Given the description of an element on the screen output the (x, y) to click on. 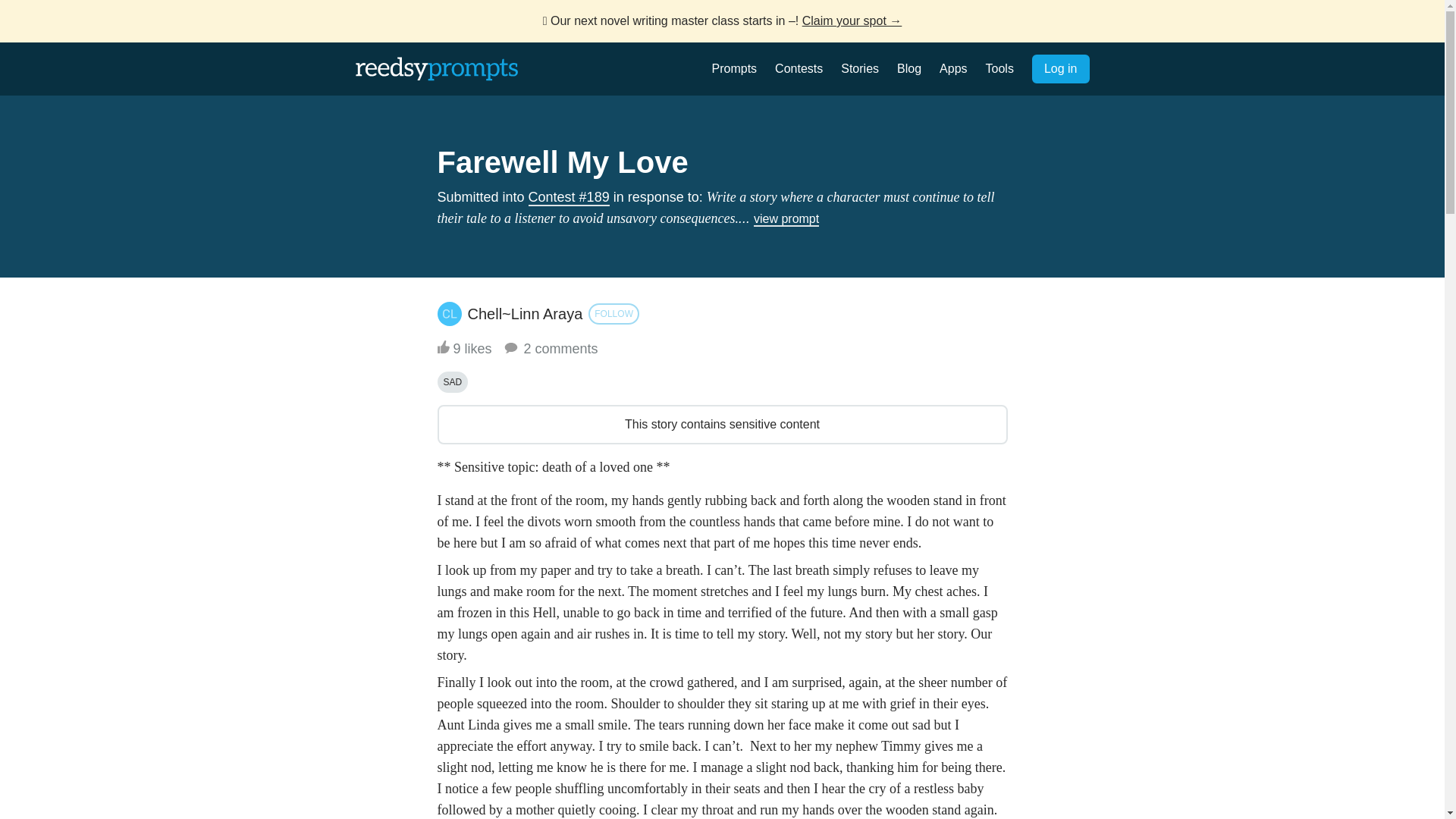
Prompts (734, 68)
Apps (952, 68)
Log in (1060, 68)
Stories (860, 68)
Tools (999, 68)
Contests (798, 68)
2 comments (550, 348)
Blog (908, 68)
